Given the description of an element on the screen output the (x, y) to click on. 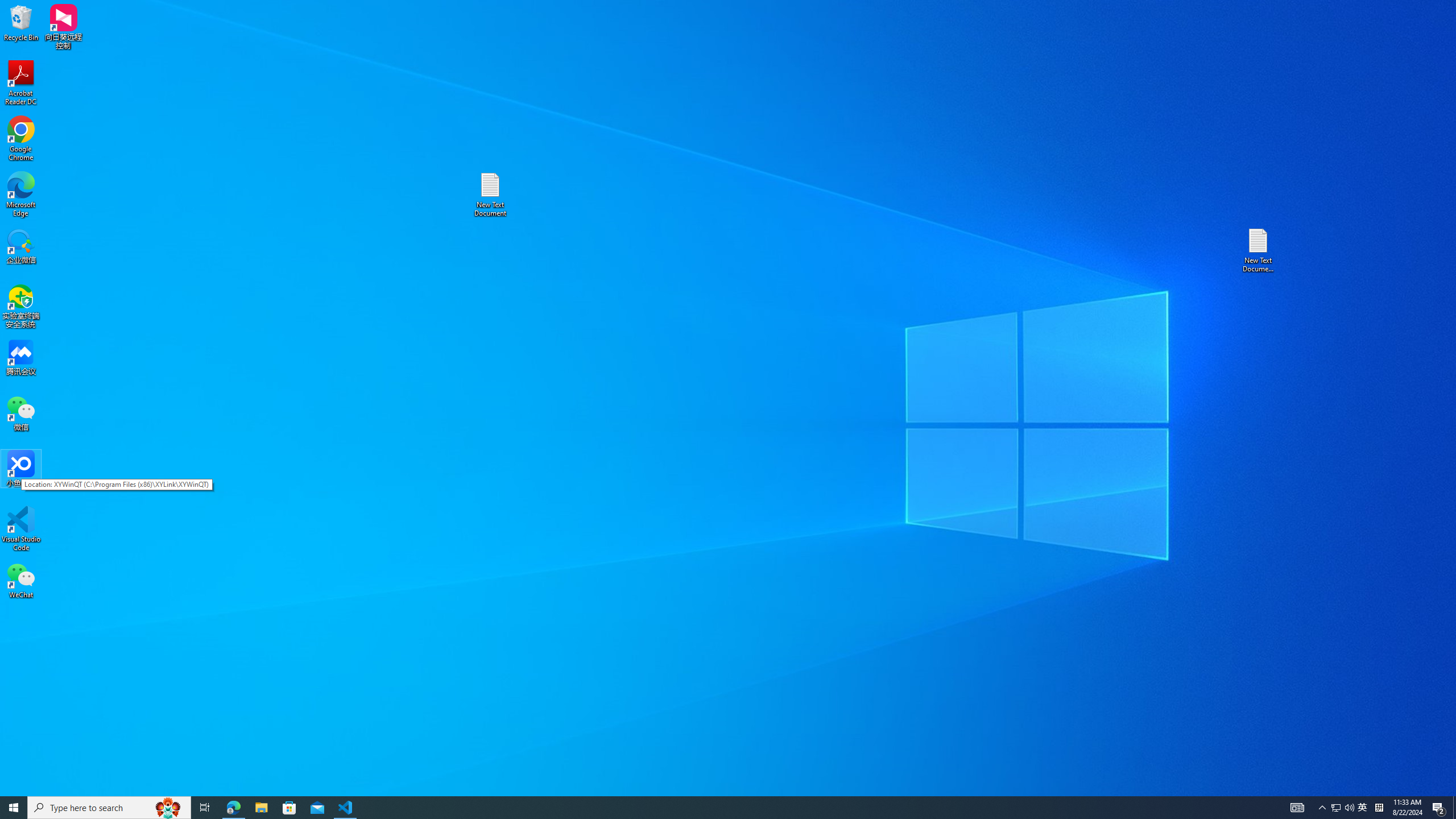
WeChat (21, 580)
New Text Document (489, 194)
Microsoft Edge (21, 194)
Visual Studio Code (21, 528)
Running applications (707, 807)
